Given the description of an element on the screen output the (x, y) to click on. 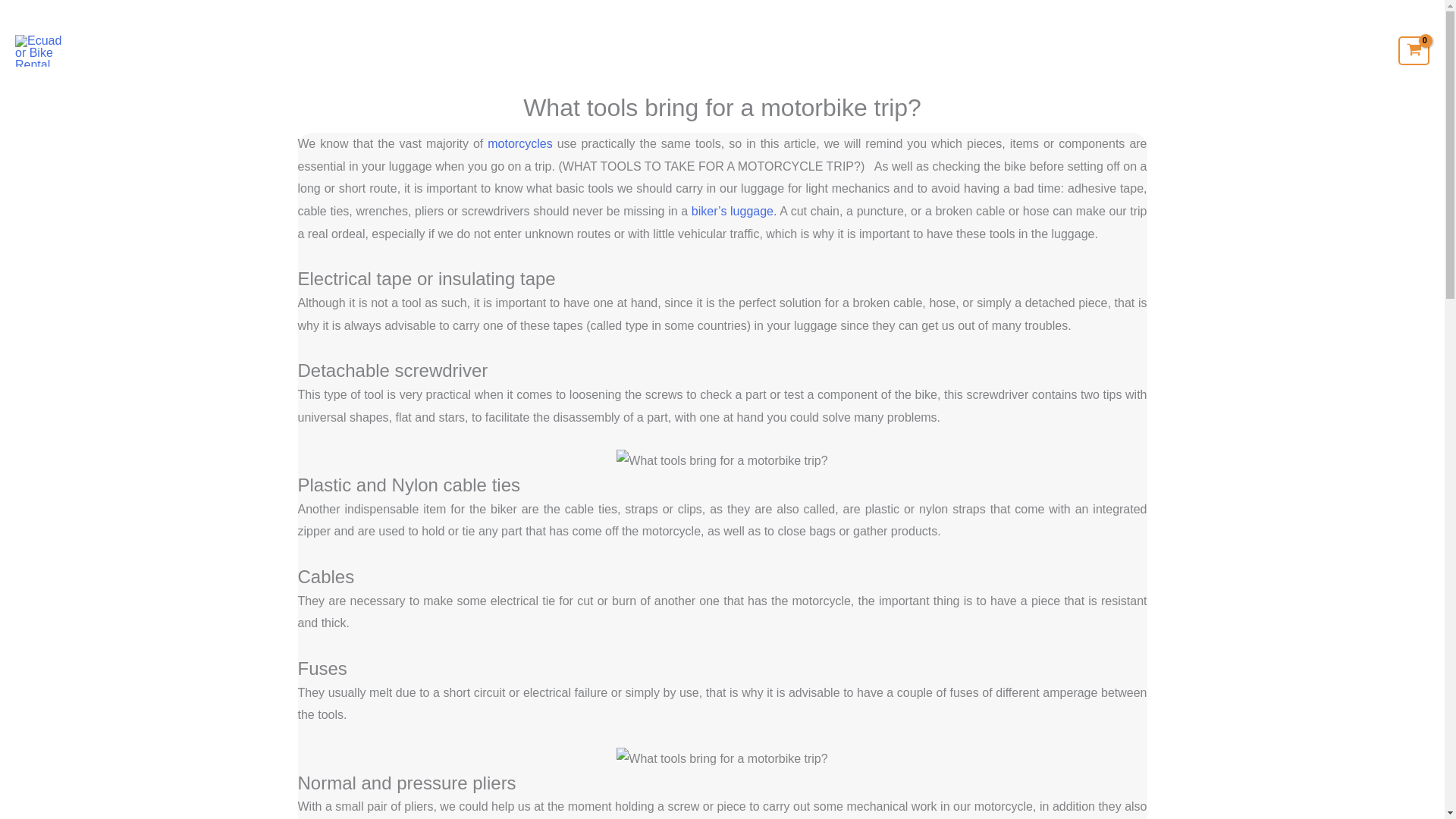
Info (1220, 50)
Custom Tailored Tours (1035, 50)
Guided Tours (697, 50)
Rent (623, 50)
Galapagos (1149, 50)
Contact Us (1340, 50)
Blog (1274, 50)
Single Tracks (914, 50)
Self-Guided Tours (805, 50)
